Given the description of an element on the screen output the (x, y) to click on. 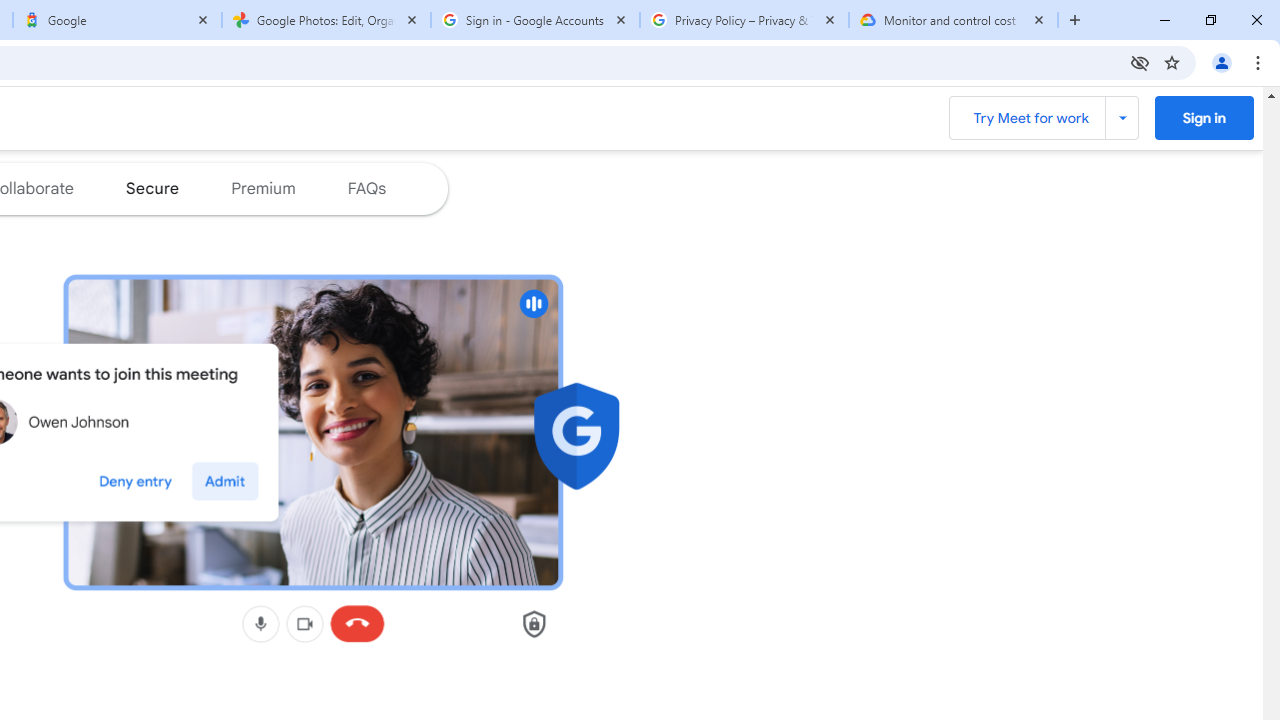
Jump to the Google Meet FAQs (367, 188)
Google (116, 20)
Try Meet for work (1042, 117)
Jump to the premium section of the page (262, 188)
Sign in - Google Accounts (535, 20)
Jump to the secure section of the page (152, 188)
